Given the description of an element on the screen output the (x, y) to click on. 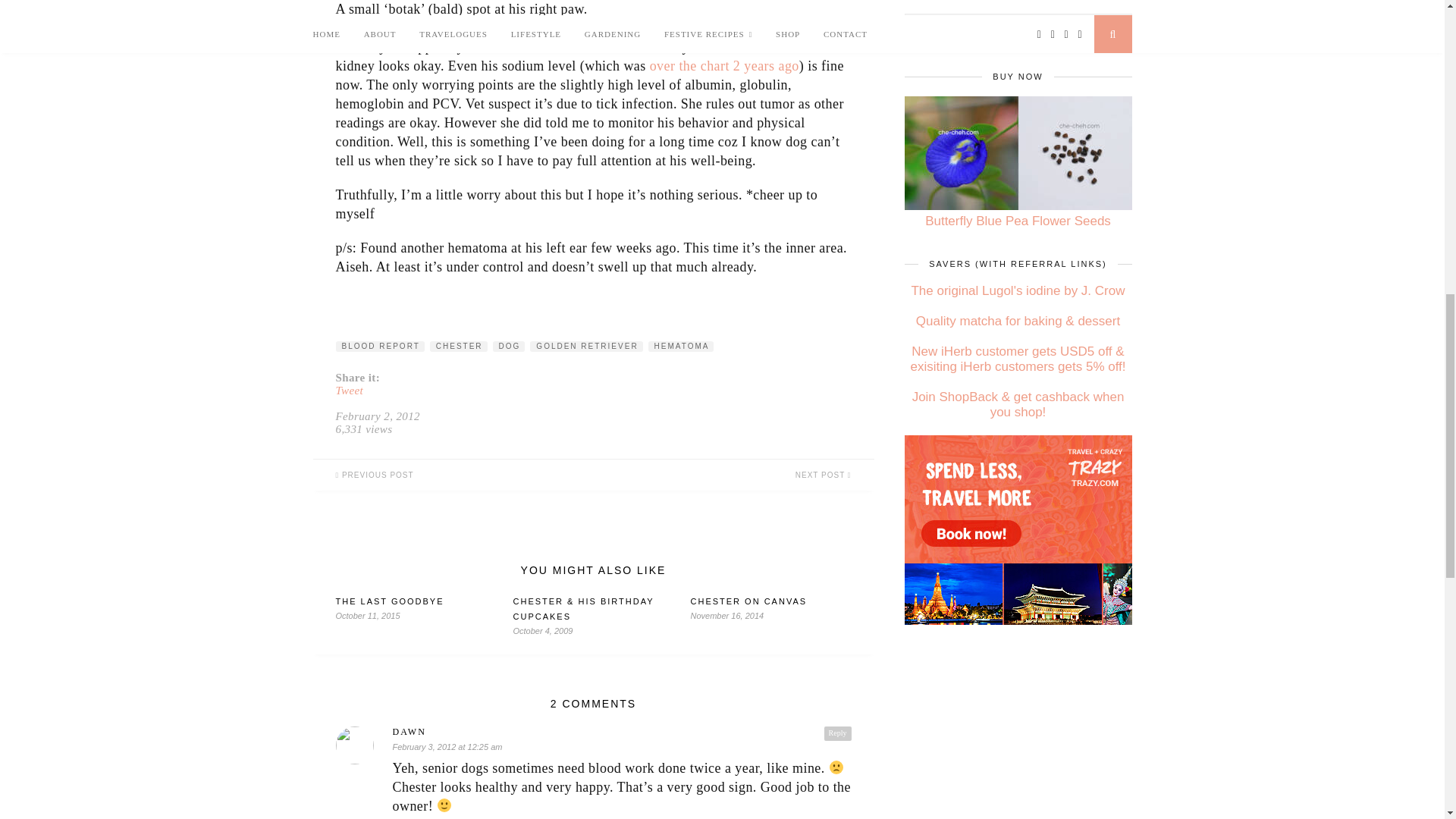
BLOOD REPORT (378, 346)
CHESTER (458, 346)
over the chart 2 years ago (724, 65)
2010 Chester's Blood Report (724, 65)
